Given the description of an element on the screen output the (x, y) to click on. 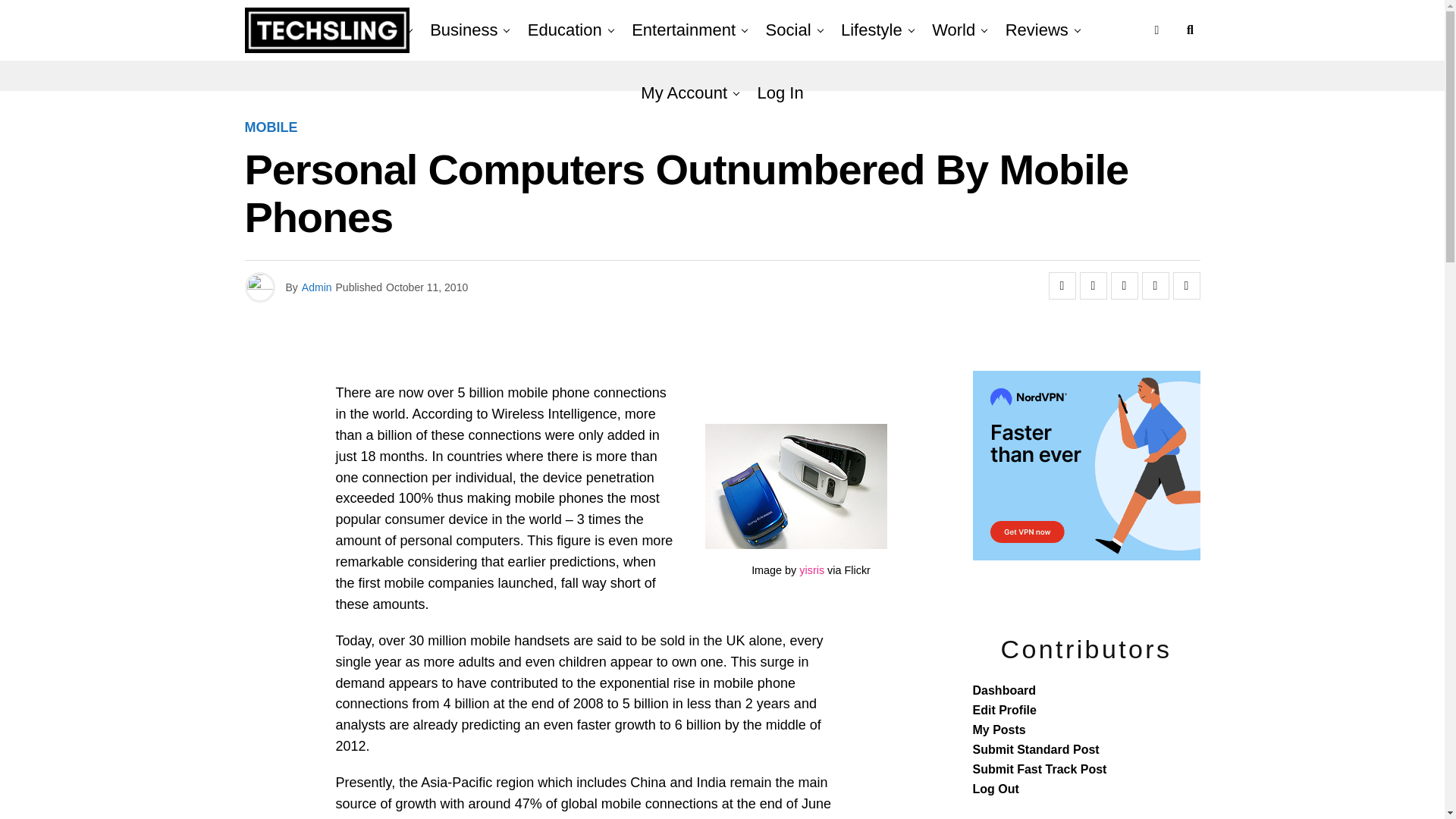
Share on Facebook (1061, 285)
Posts by Admin (316, 287)
Tech (381, 30)
Mobile Phones (795, 486)
Share on Flipboard (1123, 285)
Tweet This Post (1093, 285)
